Given the description of an element on the screen output the (x, y) to click on. 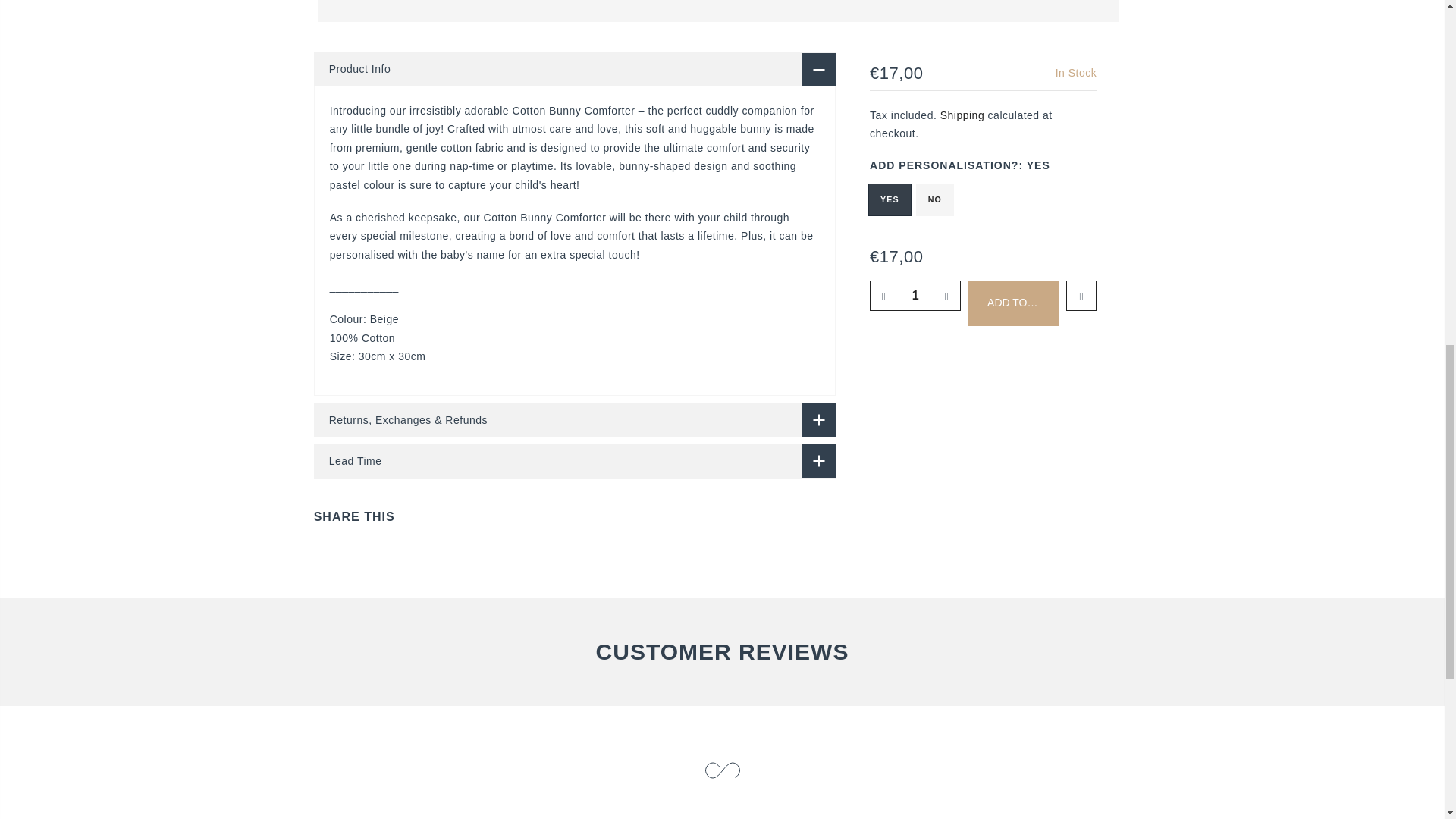
Shipping (962, 114)
Lead Time (574, 461)
ADD TO CART (1013, 302)
1 (915, 295)
Product Info (574, 69)
